Given the description of an element on the screen output the (x, y) to click on. 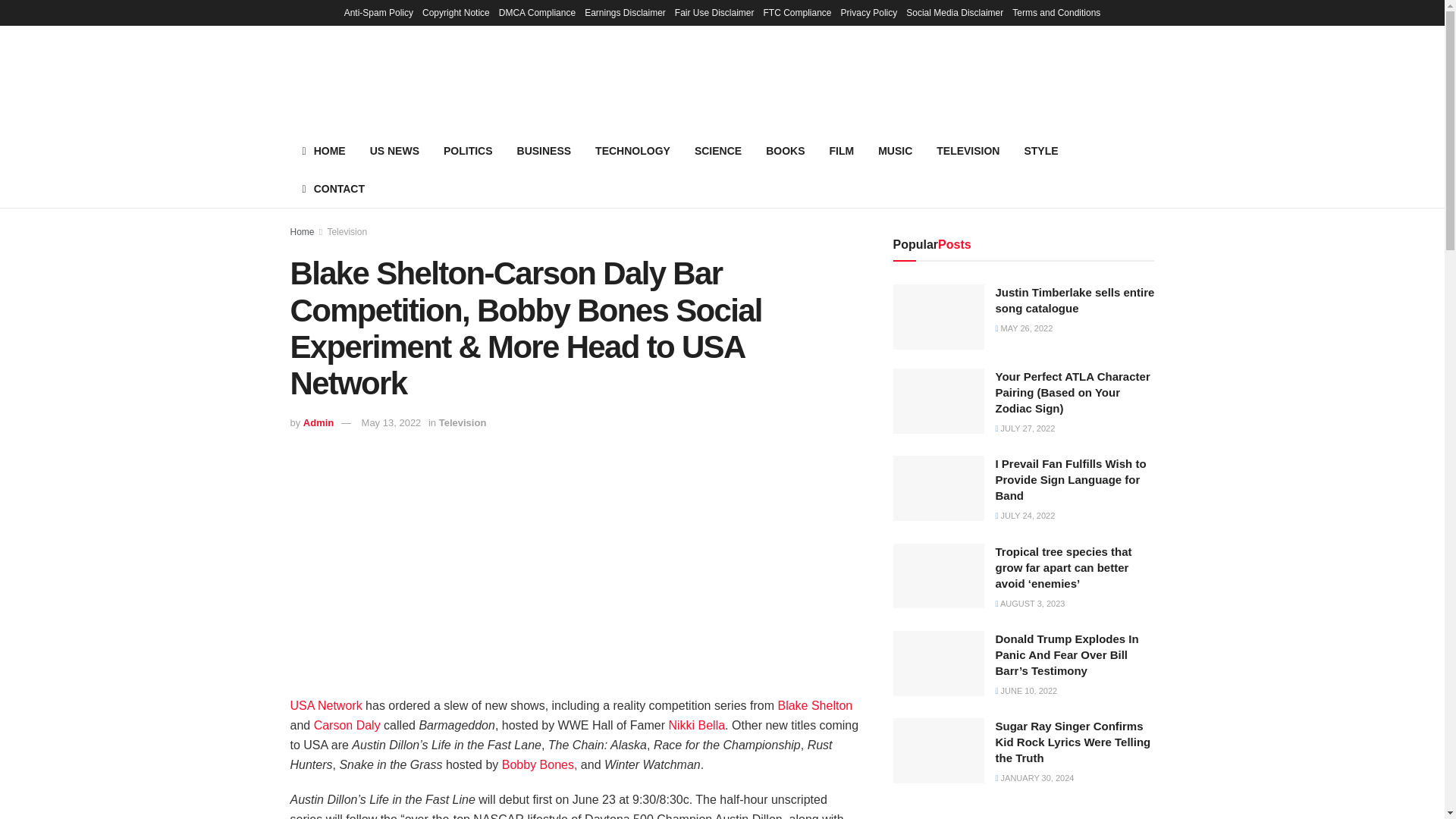
Terms and Conditions (1055, 12)
Anti-Spam Policy (378, 12)
BUSINESS (544, 150)
HOME (322, 150)
Social Media Disclaimer (954, 12)
FTC Compliance (796, 12)
Earnings Disclaimer (625, 12)
US NEWS (394, 150)
DMCA Compliance (537, 12)
POLITICS (467, 150)
Fair Use Disclaimer (714, 12)
Privacy Policy (869, 12)
Copyright Notice (455, 12)
